Given the description of an element on the screen output the (x, y) to click on. 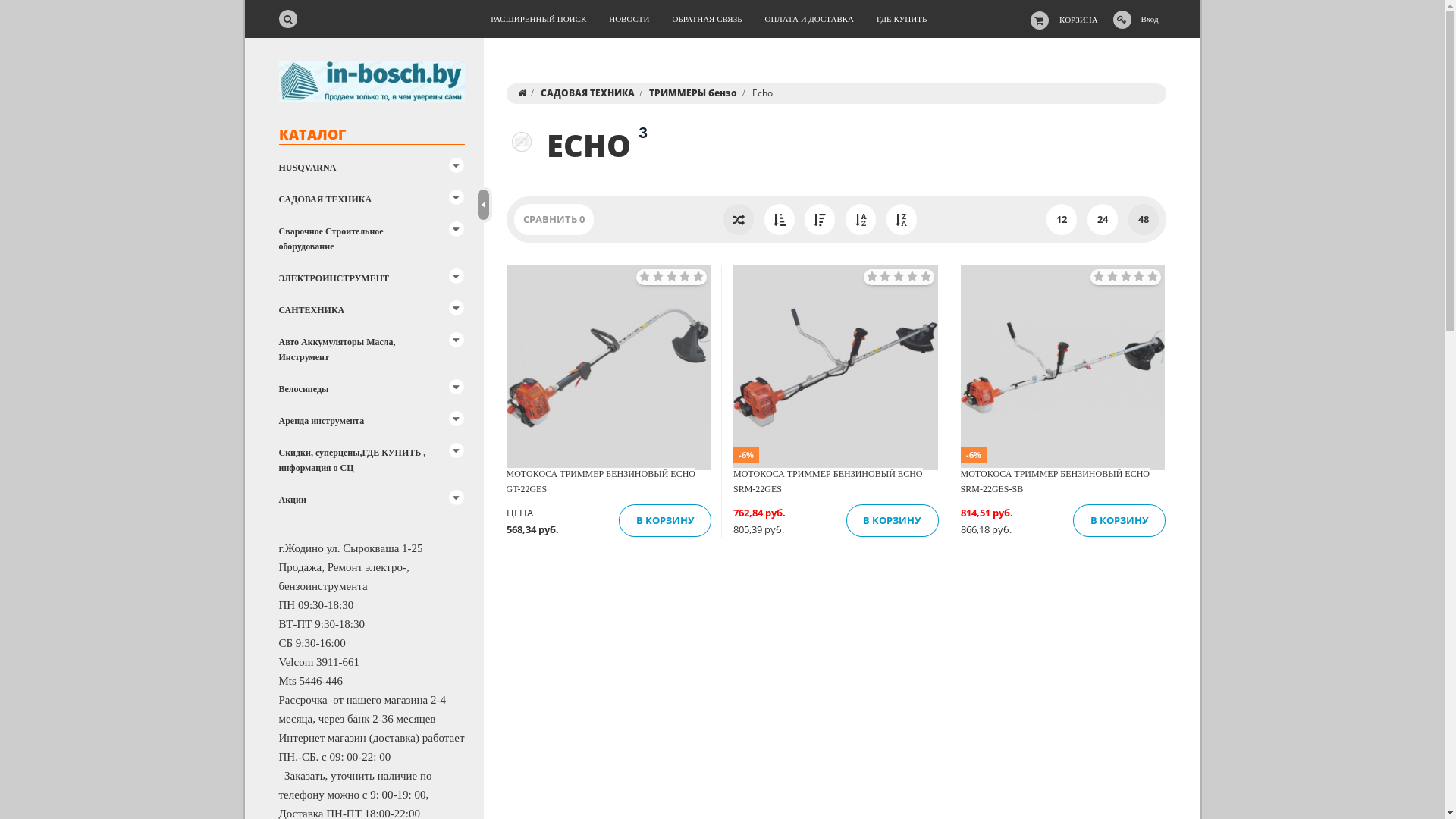
12 Element type: text (1061, 219)
HUSQVARNA Element type: text (377, 167)
24 Element type: text (1102, 219)
48 Element type: text (1143, 219)
Echo Element type: hover (521, 141)
